Given the description of an element on the screen output the (x, y) to click on. 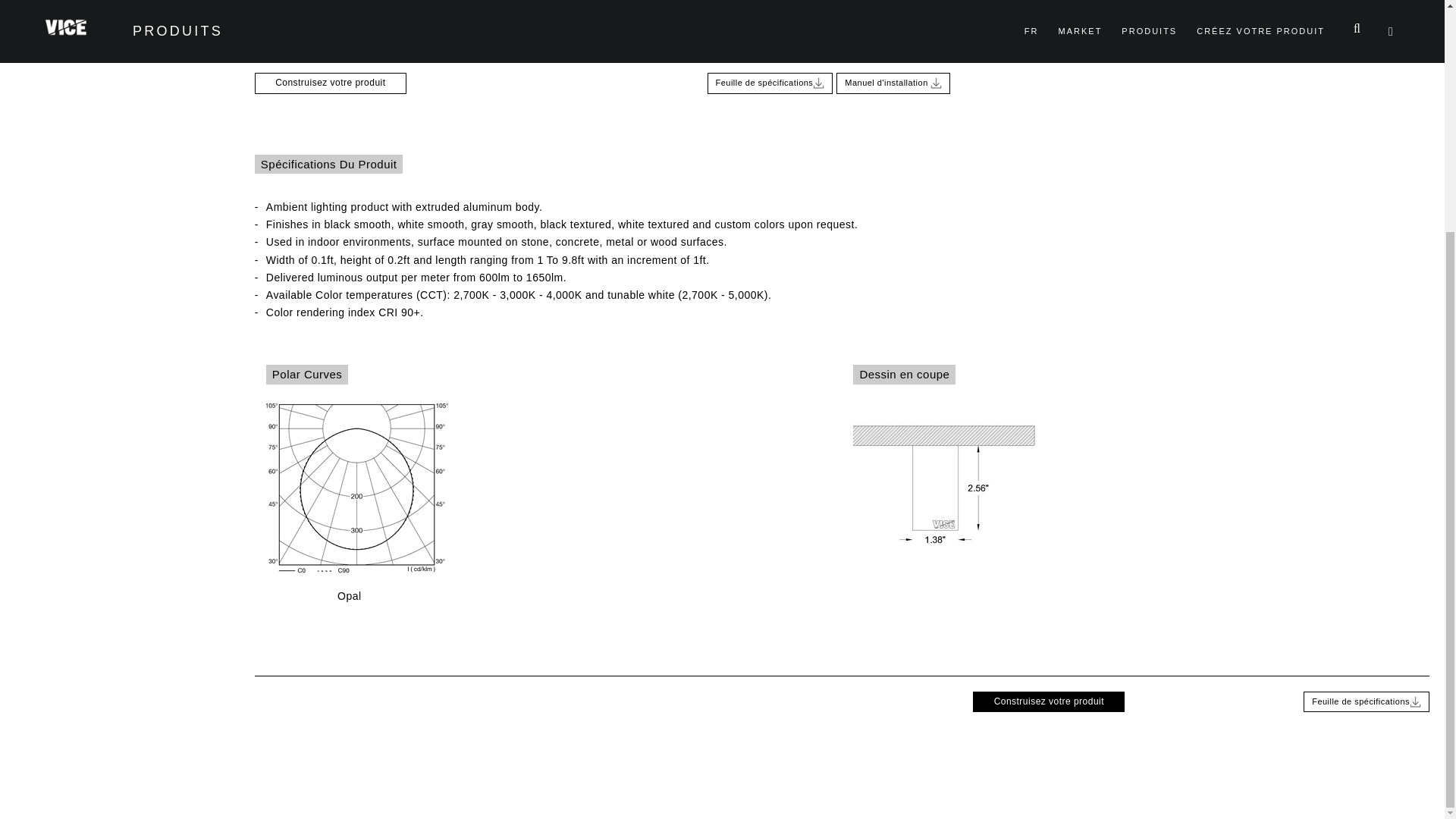
Manuel d'installation (892, 83)
Construisez votre produit (1048, 701)
Construisez votre produit (330, 83)
